Given the description of an element on the screen output the (x, y) to click on. 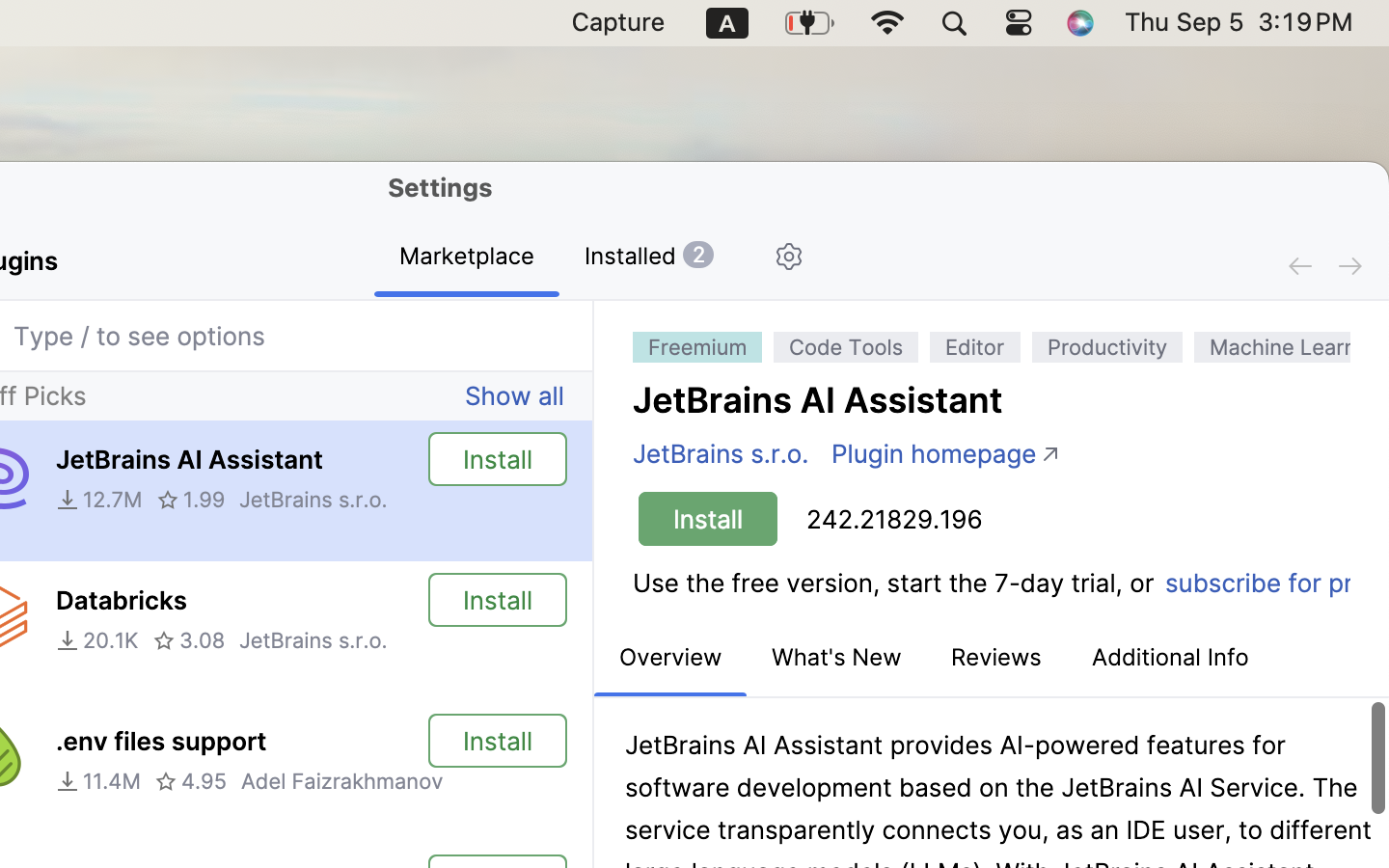
0 Element type: AXRadioButton (648, 257)
JetBrains s.r.o. Element type: AXStaticText (313, 499)
1.99 Element type: AXStaticText (190, 499)
.env files support Element type: AXStaticText (160, 741)
Adel Faizrakhmanov Element type: AXStaticText (342, 780)
